Given the description of an element on the screen output the (x, y) to click on. 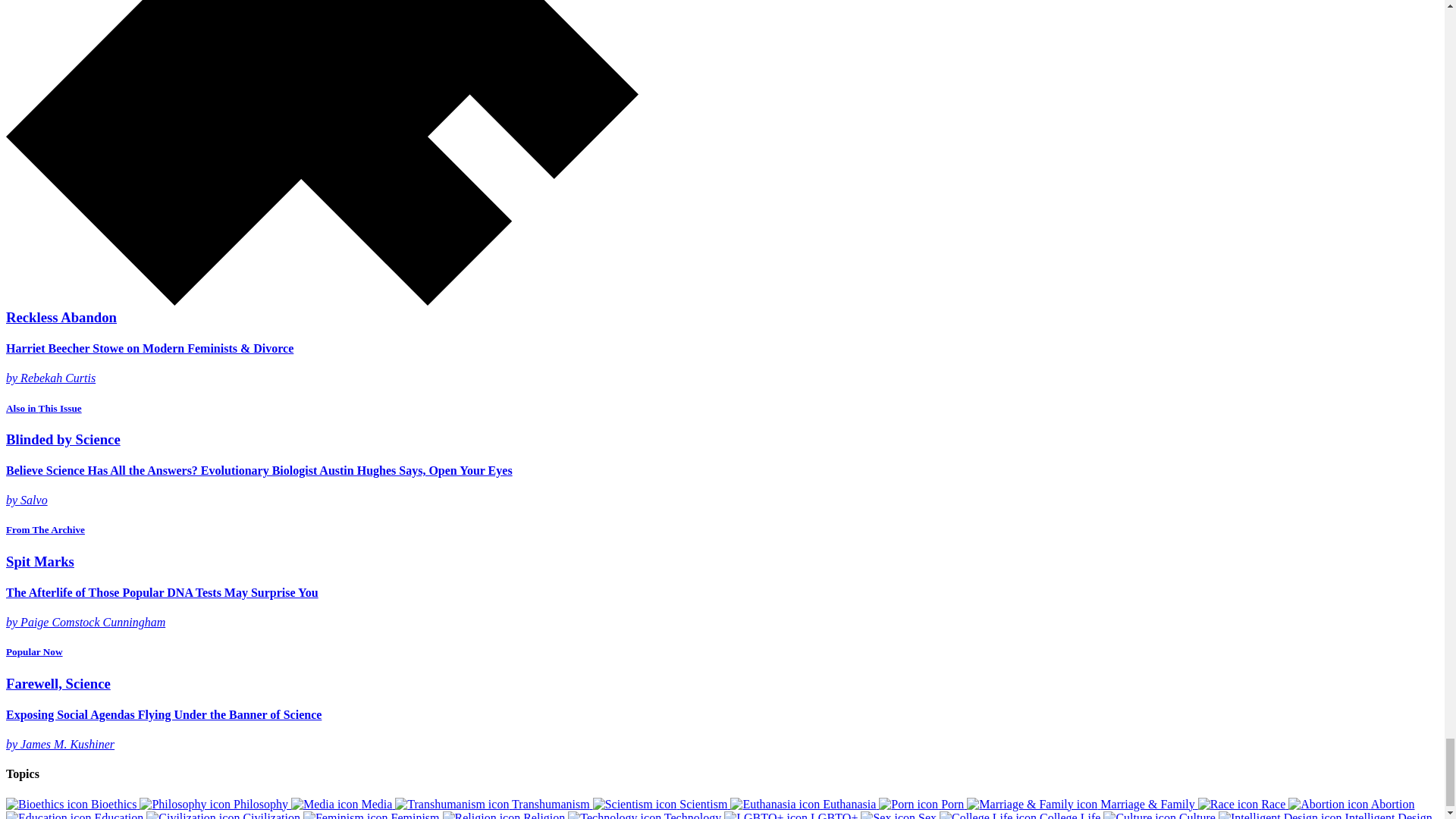
Rebekah Curtis (58, 377)
James M. Kushiner (67, 744)
by (12, 621)
by (12, 499)
Scientism (661, 803)
Bioethics (72, 803)
by (12, 377)
Media (342, 803)
Salvo (34, 499)
Transhumanism (493, 803)
by (12, 744)
Paige Comstock Cunningham (92, 621)
Philosophy (215, 803)
